Given the description of an element on the screen output the (x, y) to click on. 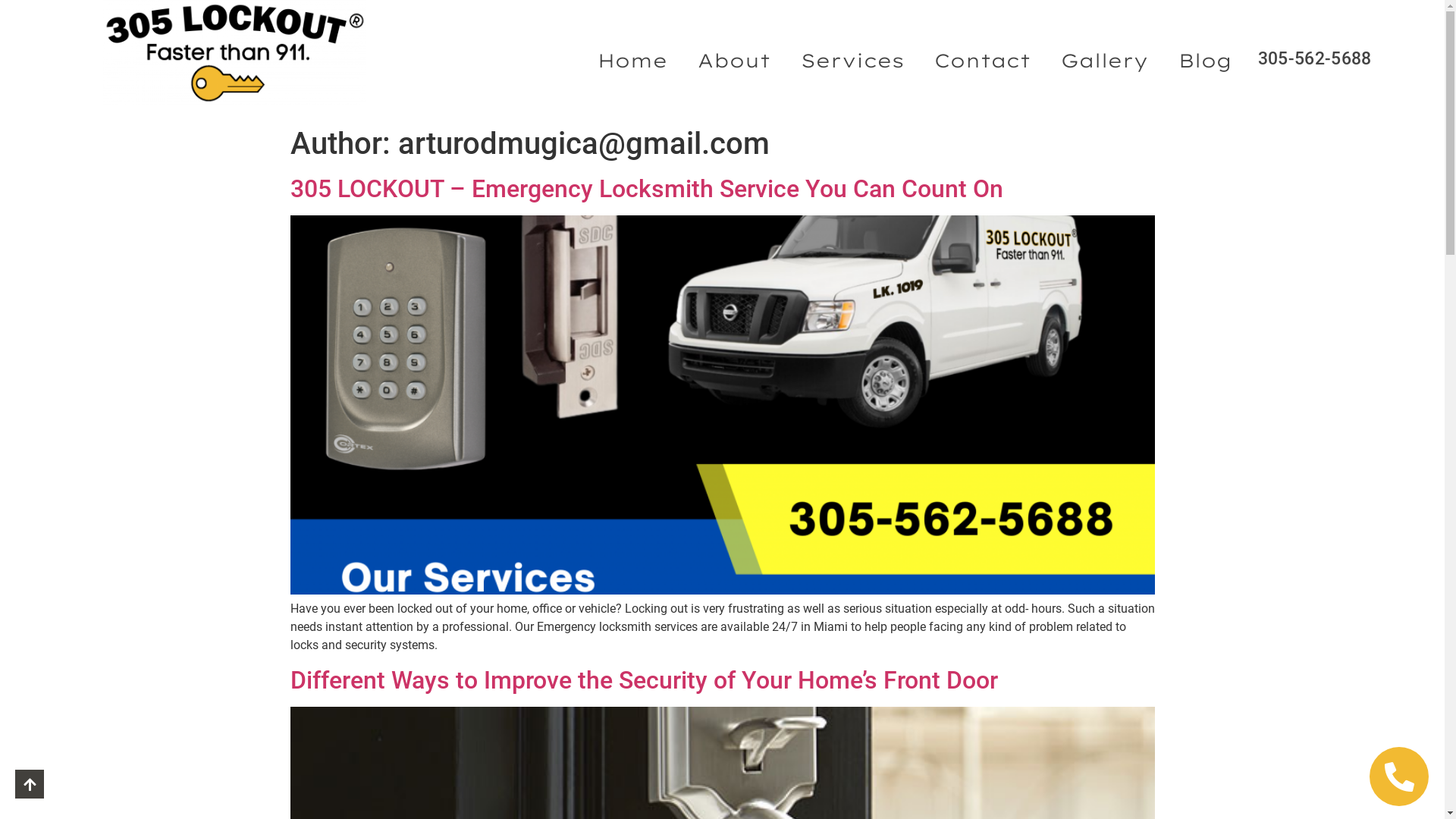
Contact Element type: text (982, 59)
Gallery Element type: text (1104, 59)
305-562-5688 Element type: text (1314, 58)
Home Element type: text (632, 59)
Blog Element type: text (1205, 59)
Services Element type: text (852, 59)
About Element type: text (733, 59)
